Given the description of an element on the screen output the (x, y) to click on. 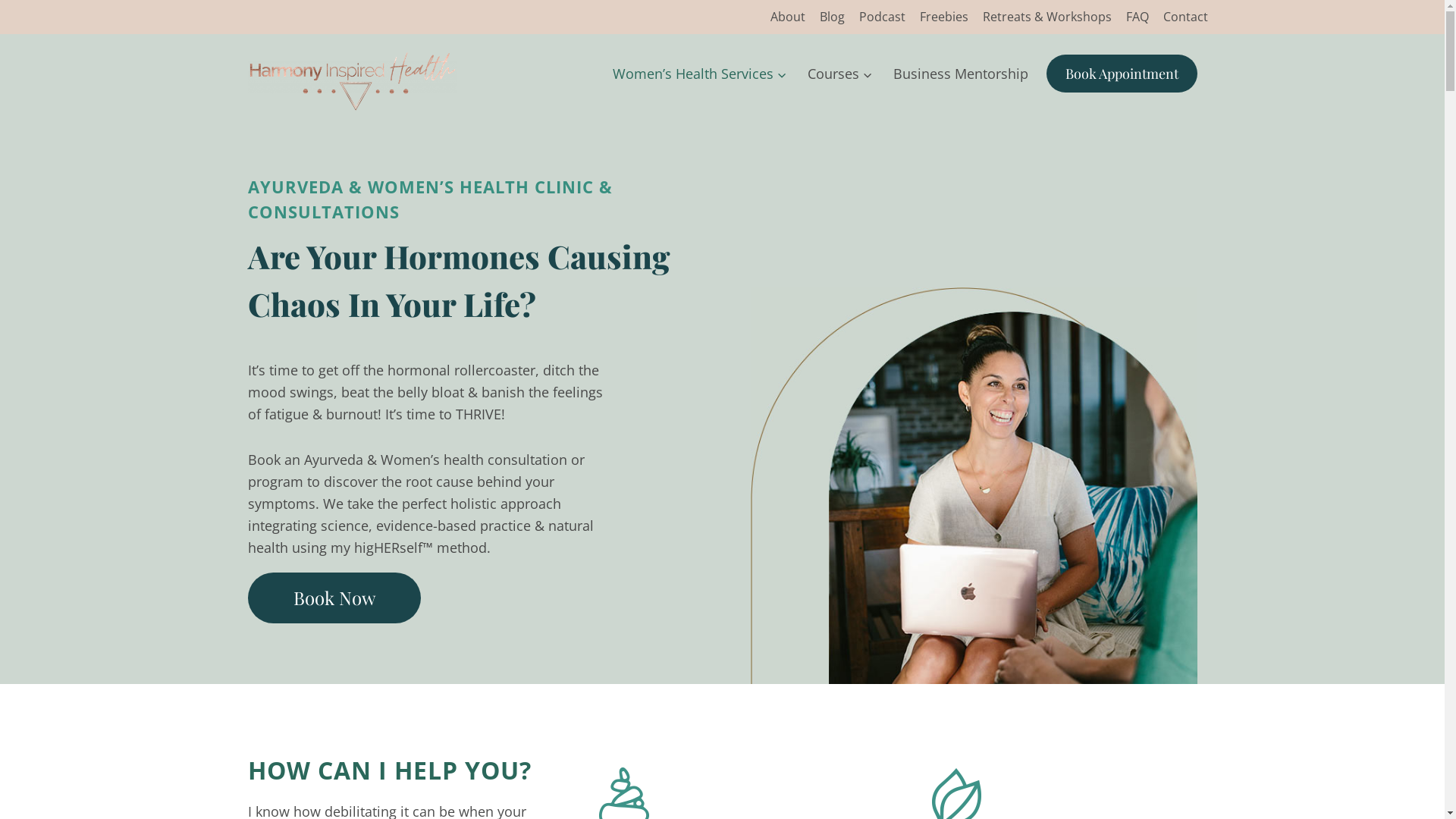
Blog Element type: text (831, 17)
Freebies Element type: text (943, 17)
Book Now Element type: text (333, 597)
Courses Element type: text (840, 73)
FAQ Element type: text (1136, 17)
Book Appointment Element type: text (1121, 73)
Podcast Element type: text (881, 17)
Retreats & Workshops Element type: text (1046, 17)
Business Mentorship Element type: text (960, 73)
About Element type: text (787, 17)
Contact Element type: text (1184, 17)
